Given the description of an element on the screen output the (x, y) to click on. 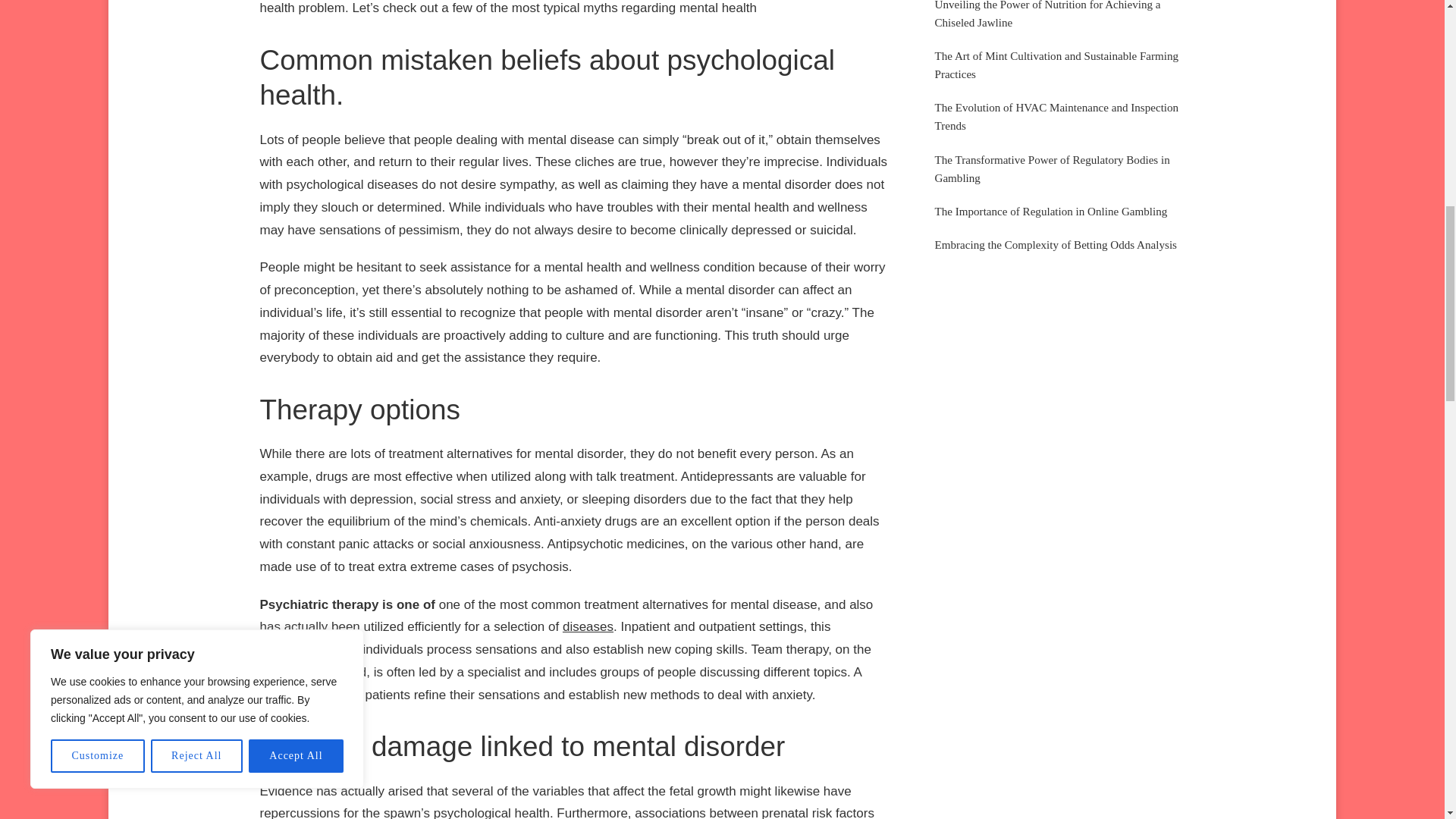
diseases (587, 626)
